Given the description of an element on the screen output the (x, y) to click on. 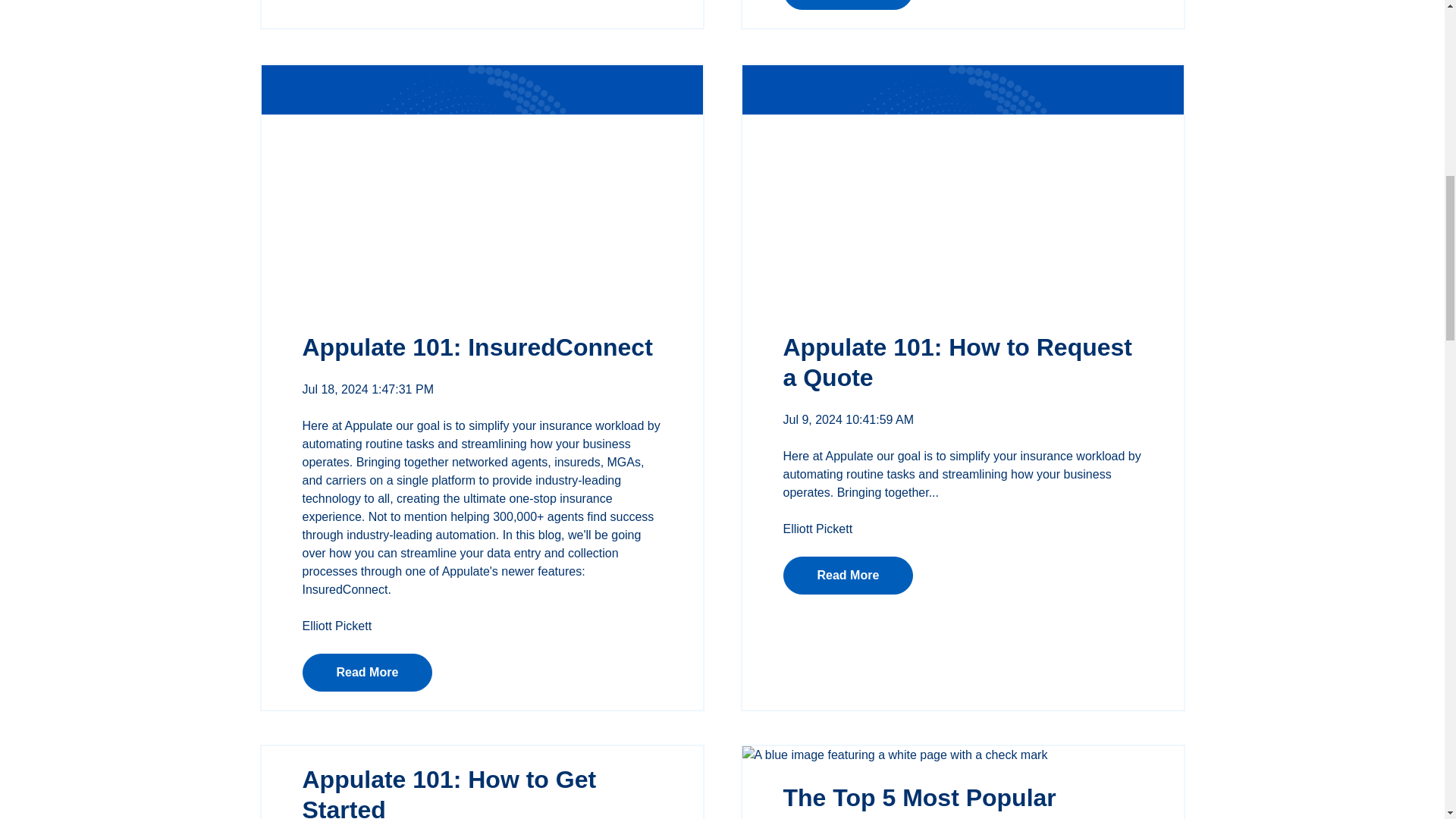
Read More (847, 575)
The Top 5 Most Popular Appulate Premium Features in 2024 (957, 801)
Read More (847, 4)
Appulate 101: How to Request a Quote (957, 362)
Appulate 101: InsuredConnect (476, 347)
Appulate 101: How to Get Started (448, 792)
Elliott Pickett (336, 625)
Read More (366, 672)
Elliott Pickett (817, 528)
